Given the description of an element on the screen output the (x, y) to click on. 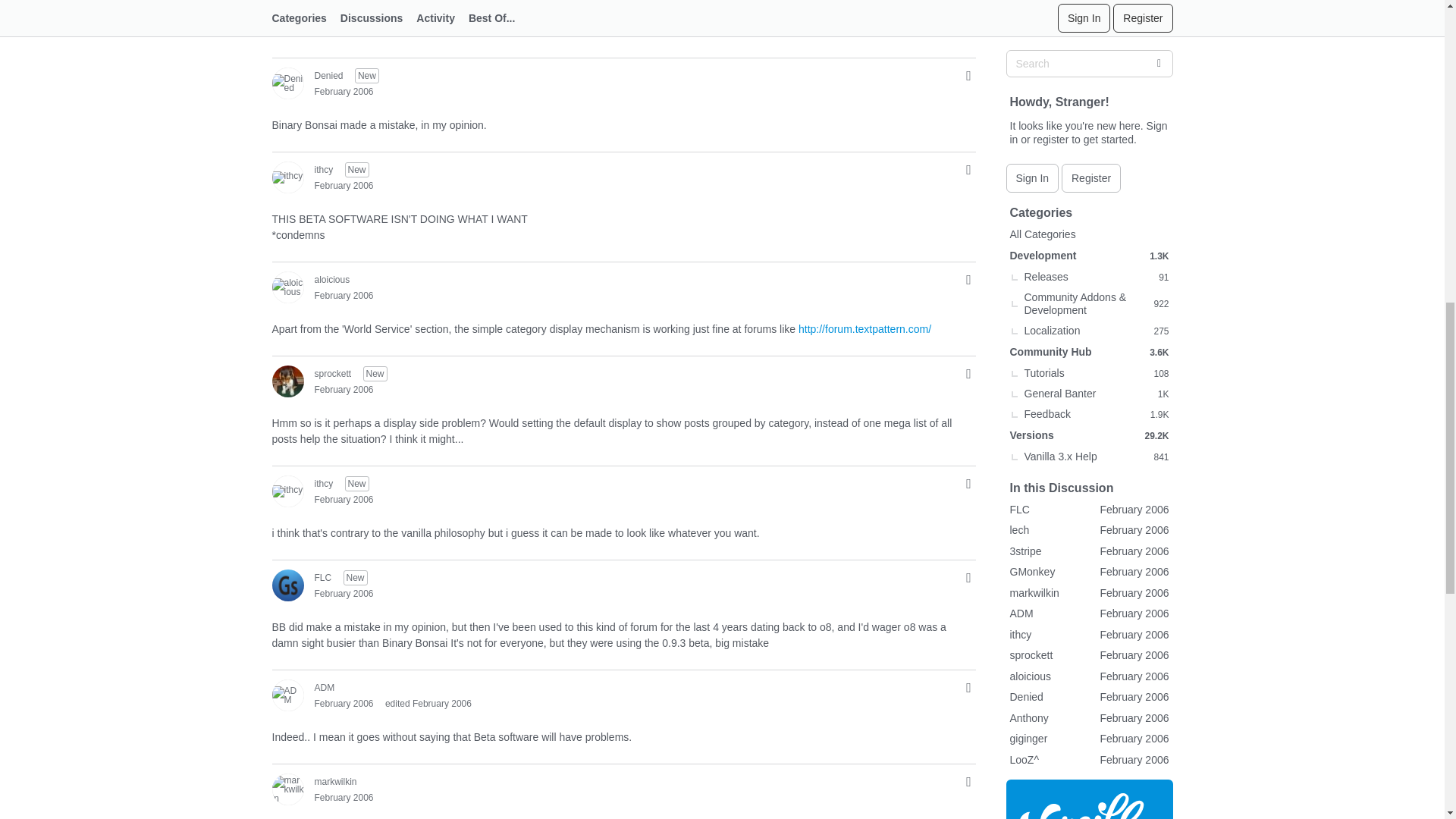
Anthony (286, 2)
Vanilla (1088, 80)
